Given the description of an element on the screen output the (x, y) to click on. 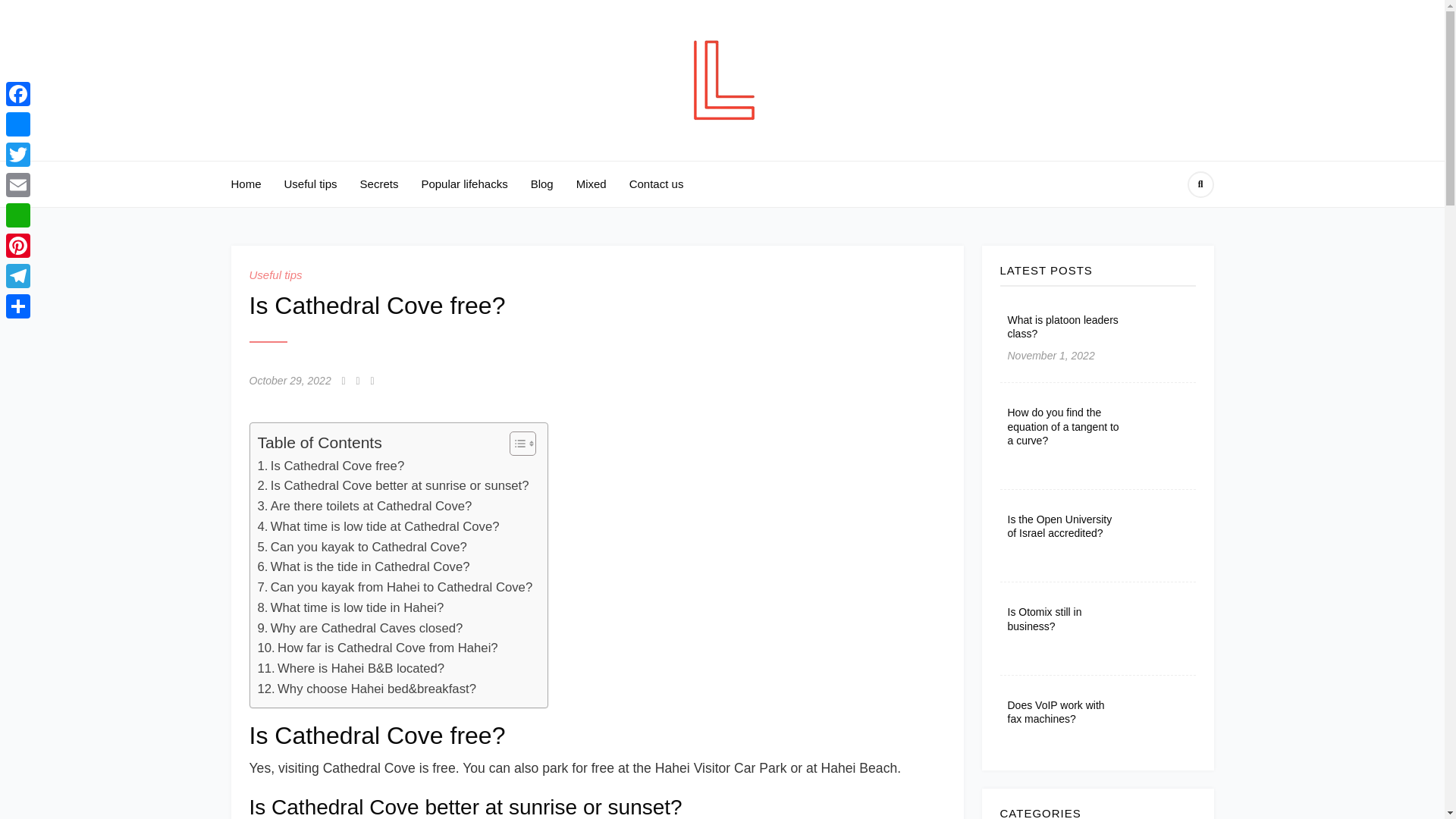
What time is low tide in Hahei? (350, 608)
Is Cathedral Cove free? (330, 466)
Is Cathedral Cove free? (330, 466)
What time is low tide at Cathedral Cove? (378, 526)
How far is Cathedral Cove from Hahei? (377, 648)
Contact us (656, 184)
October 29, 2022 (289, 380)
Facebook (17, 93)
Why are Cathedral Caves closed? (360, 629)
Useful tips (310, 184)
